Given the description of an element on the screen output the (x, y) to click on. 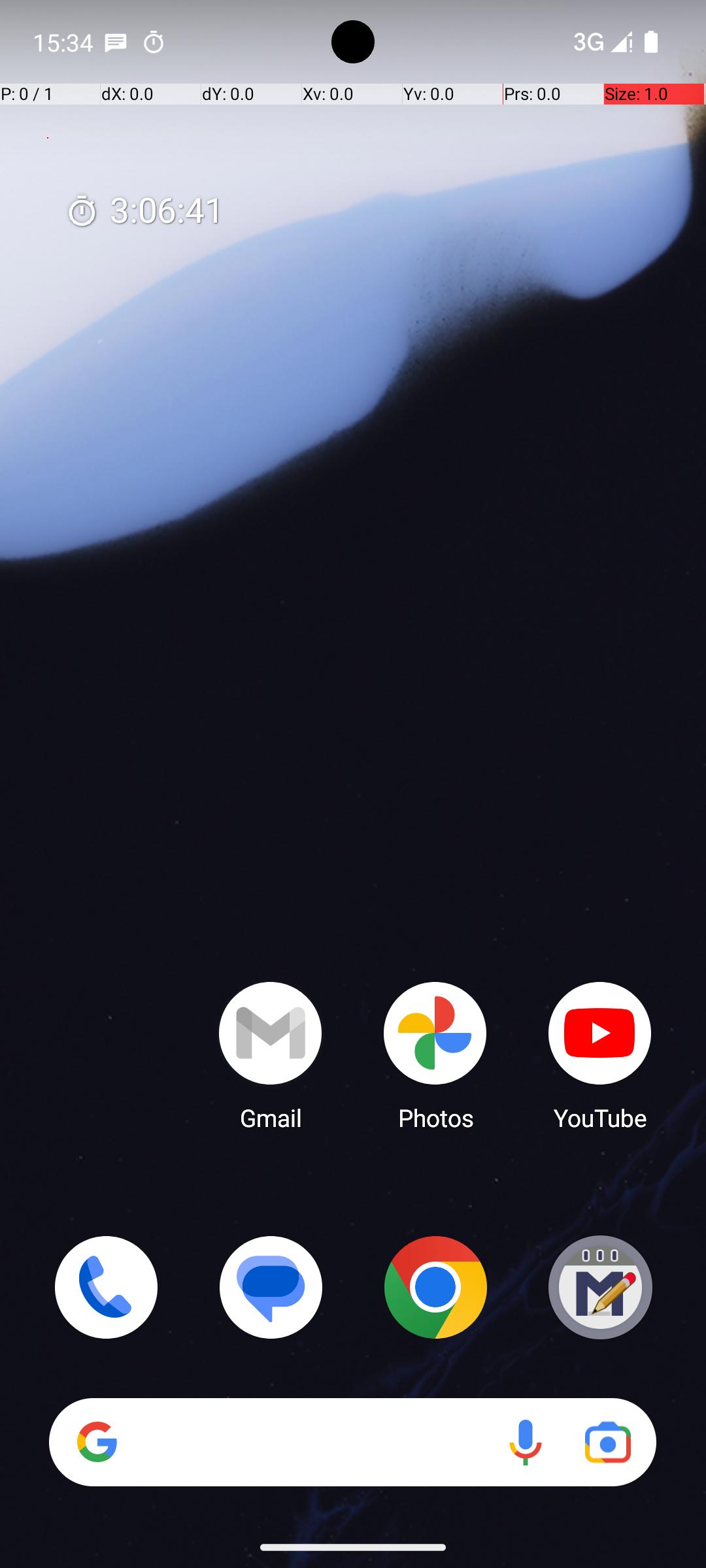
3:06:41 Element type: android.widget.TextView (144, 210)
